Given the description of an element on the screen output the (x, y) to click on. 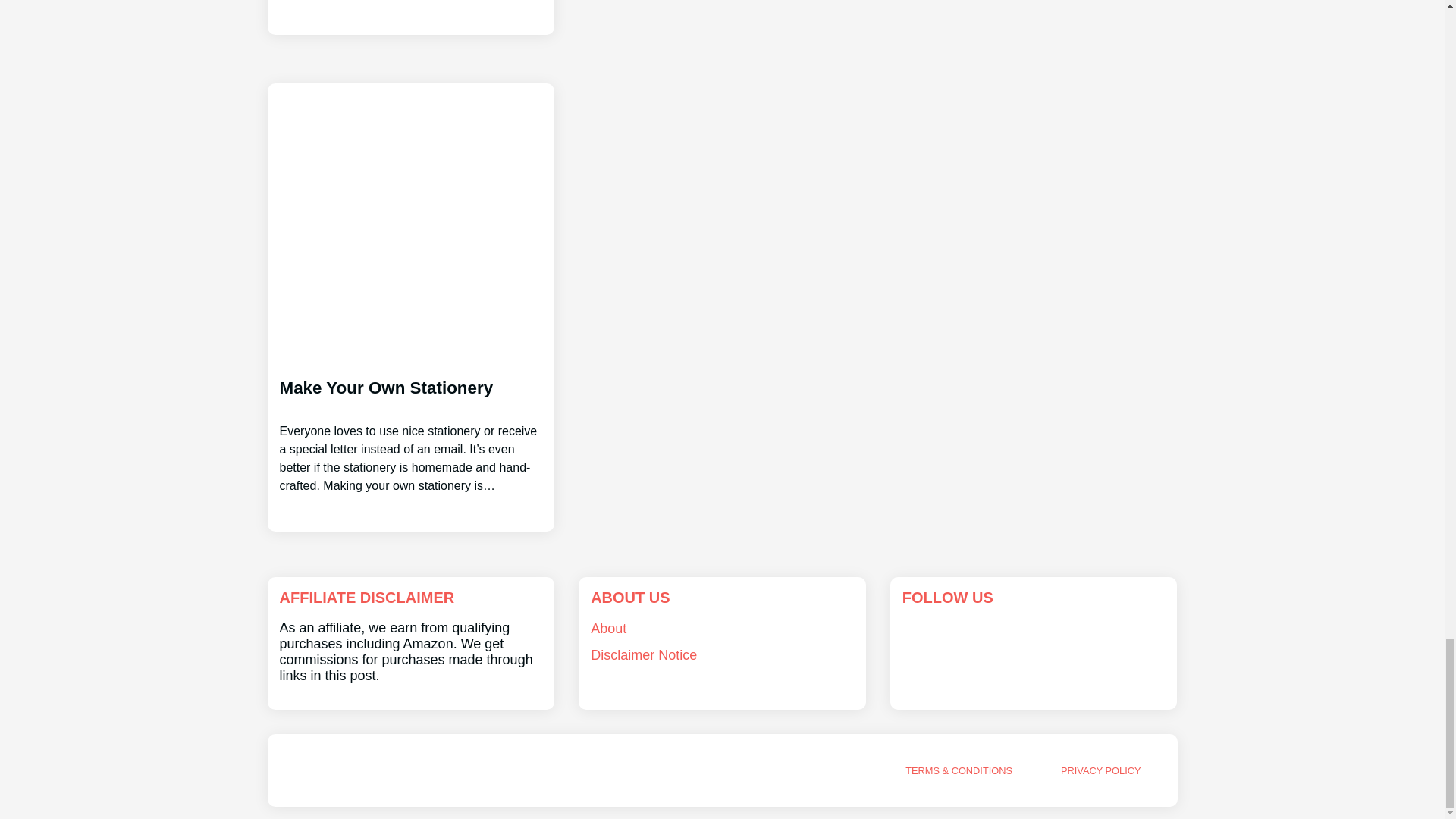
PRIVACY POLICY (1101, 770)
Make Your Own Stationery (410, 422)
About (608, 628)
Disclaimer Notice (644, 654)
